Given the description of an element on the screen output the (x, y) to click on. 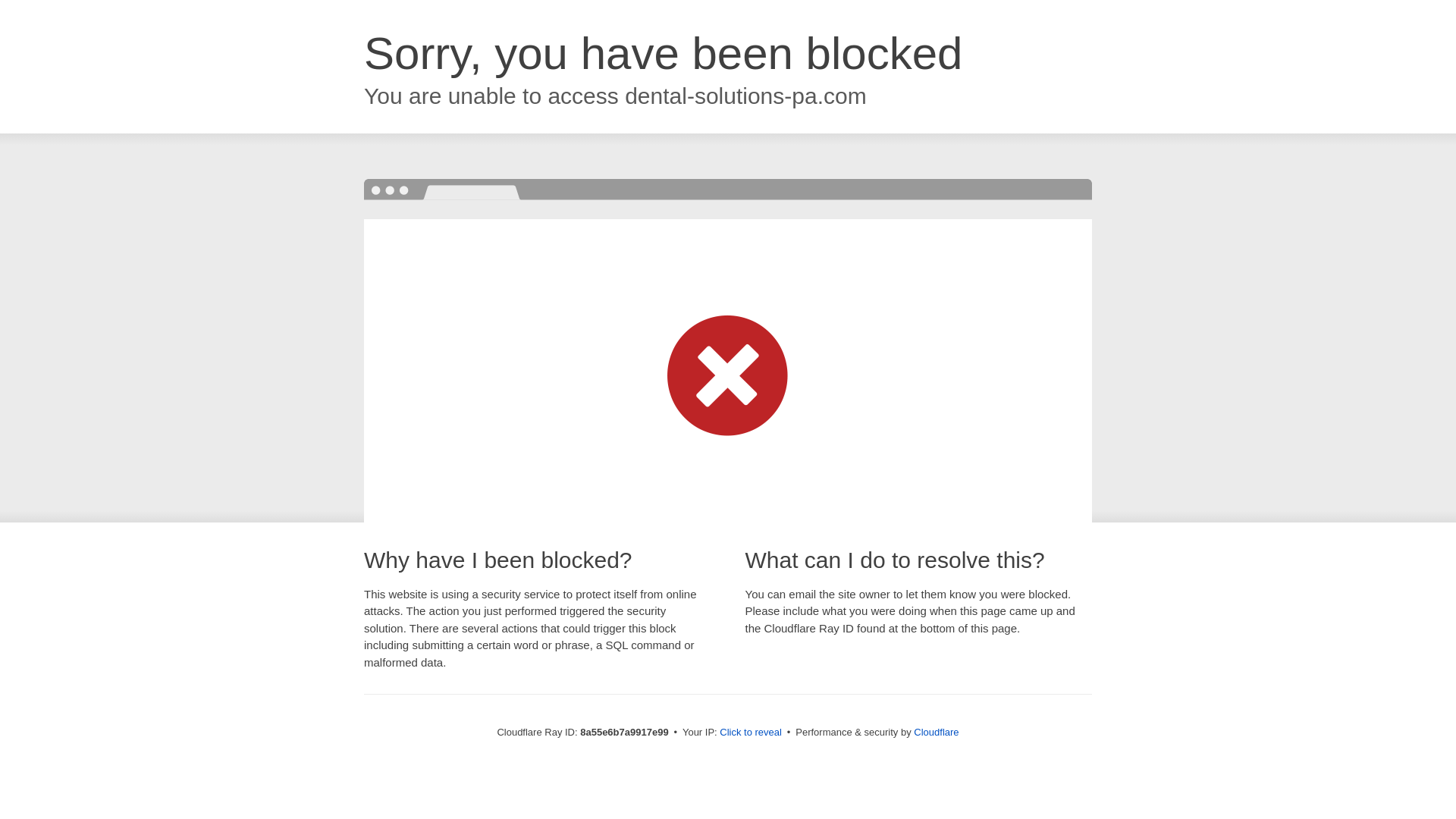
Cloudflare (936, 731)
Click to reveal (750, 732)
